Given the description of an element on the screen output the (x, y) to click on. 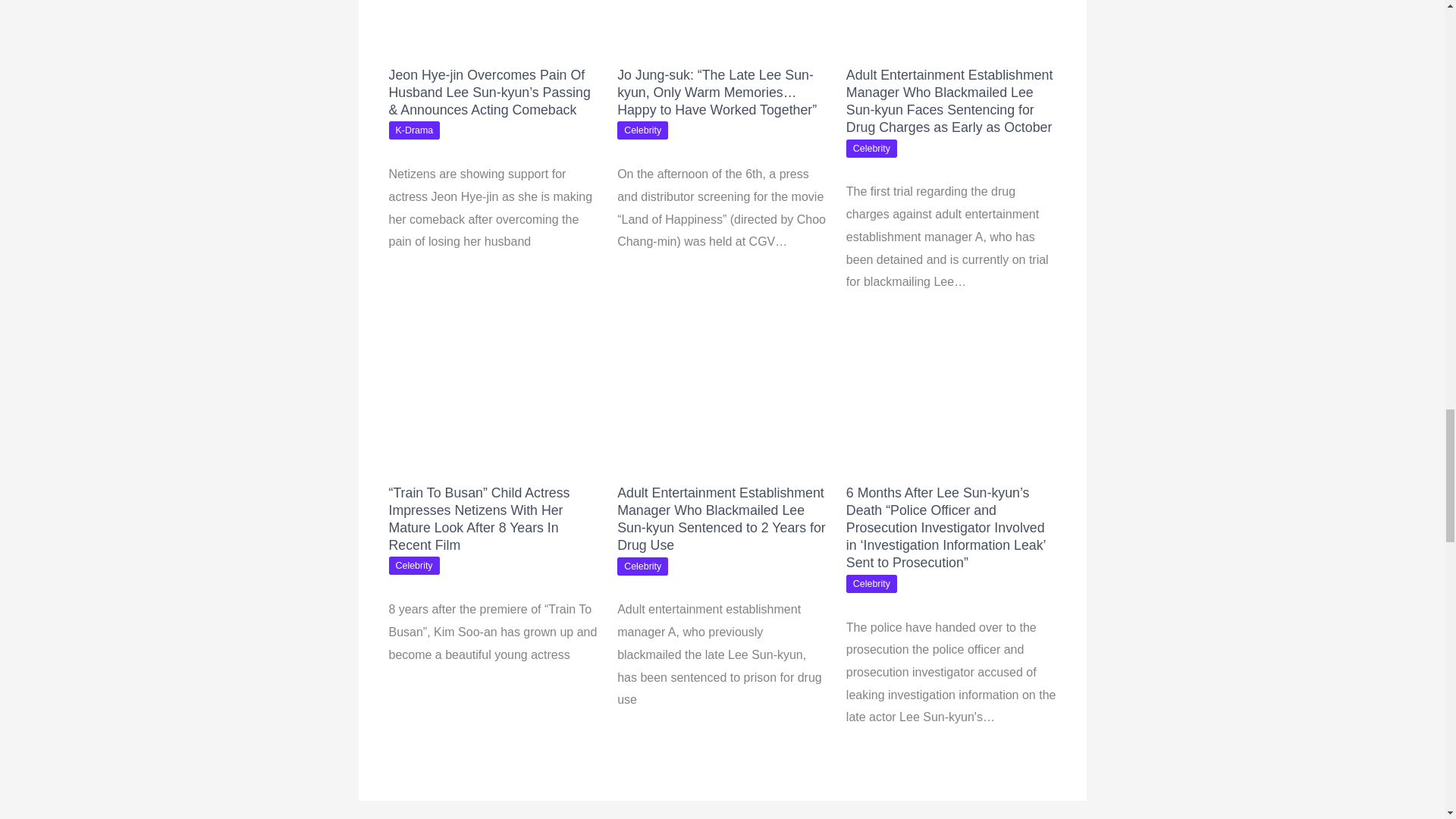
Celebrity (642, 130)
K-Drama (413, 130)
